Given the description of an element on the screen output the (x, y) to click on. 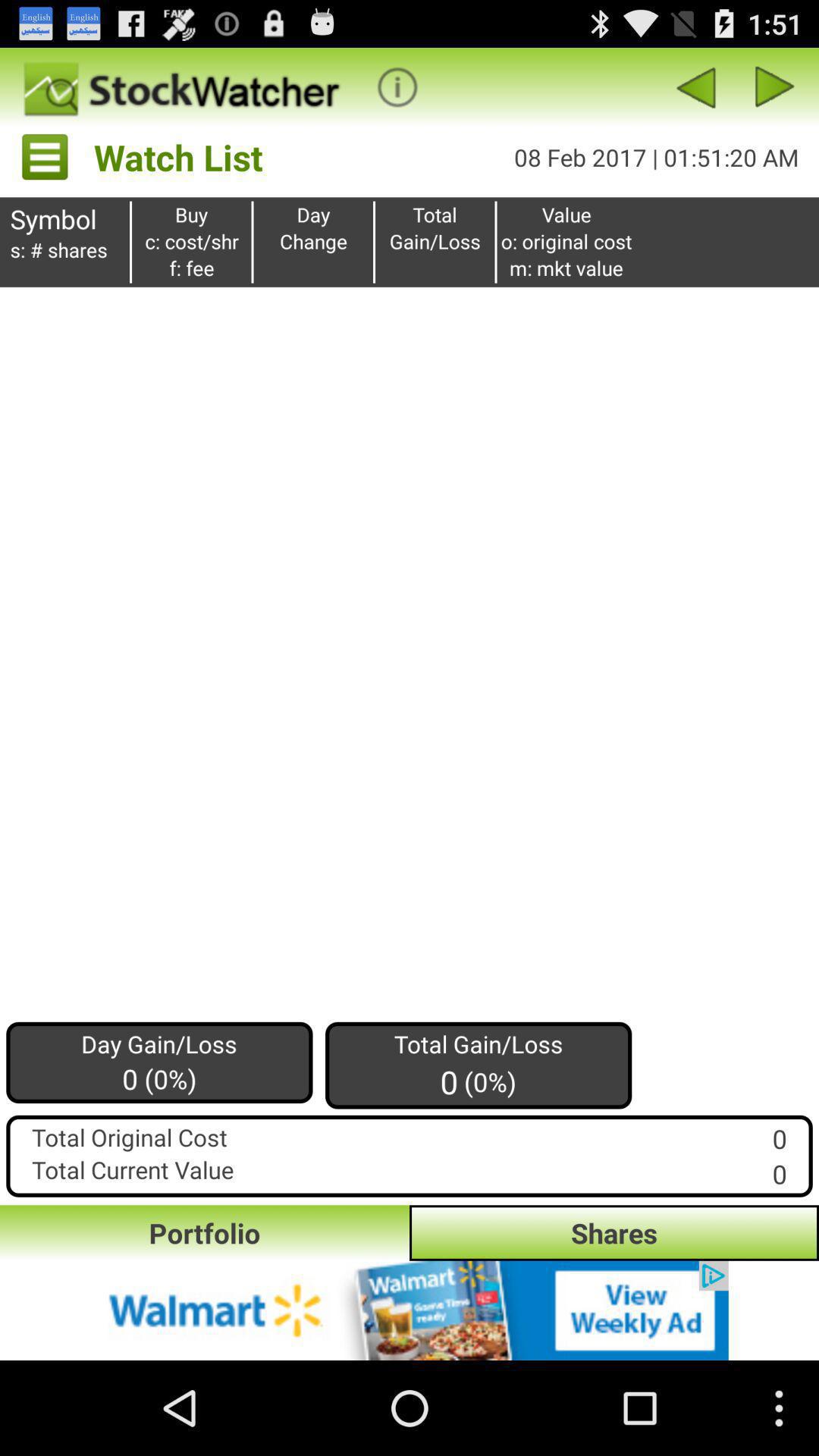
go to previous (695, 87)
